Given the description of an element on the screen output the (x, y) to click on. 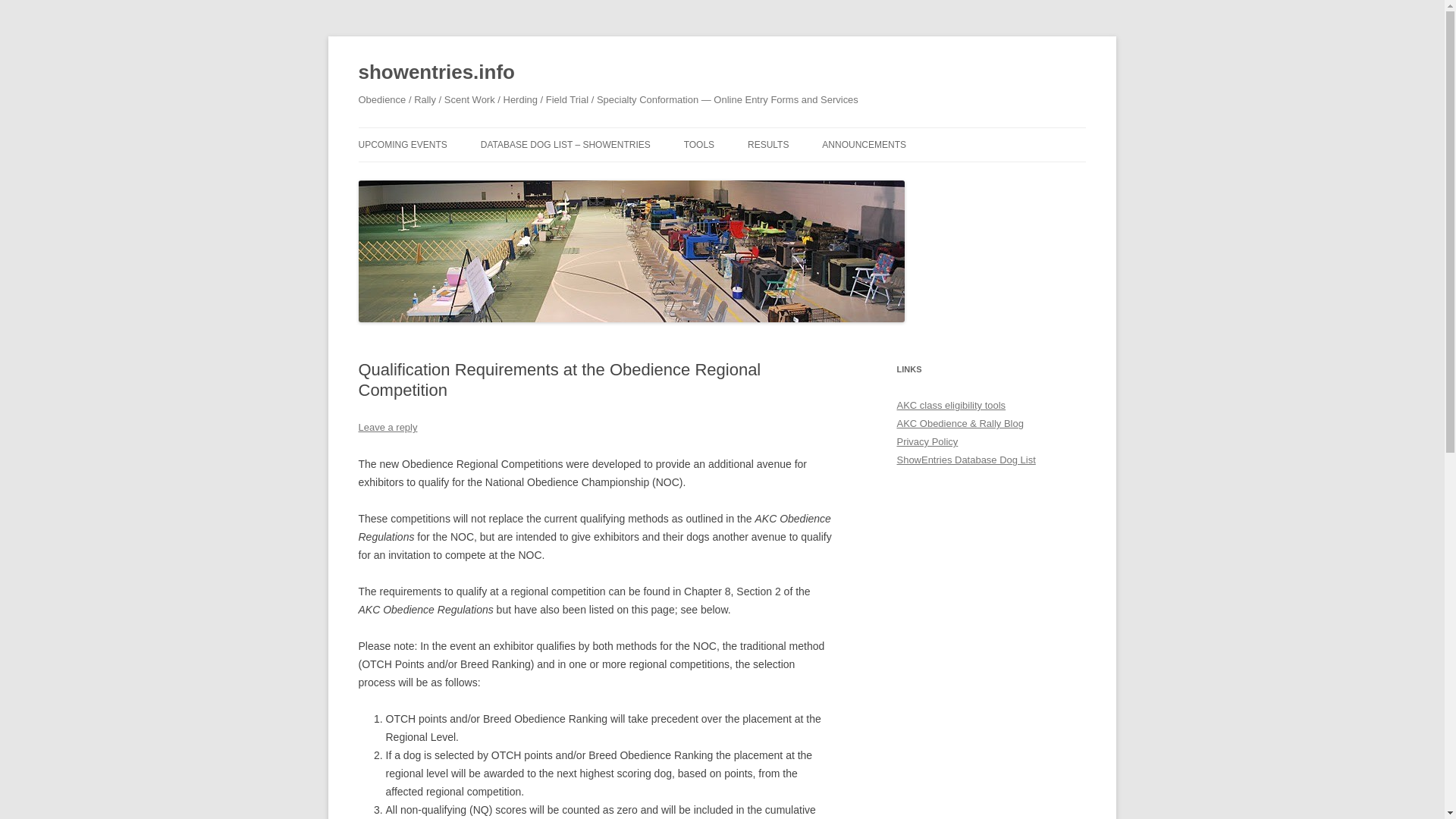
AKC class eligibility tools (951, 405)
Link to eligibility tools (951, 405)
showentries.info (435, 72)
ShowEntries Privacy Policy (927, 441)
CLASS ELIGIBILITY TOOLS (759, 176)
ShowEntries Database Dog List (965, 460)
Privacy Policy (927, 441)
TOOLS (699, 144)
UPCOMING EVENTS (402, 144)
ANNOUNCEMENTS (863, 144)
Leave a reply (387, 427)
RESULTS (768, 144)
Link to the AKC blog (959, 423)
Searchable list of all dogs in the Showentries database. (965, 460)
